Given the description of an element on the screen output the (x, y) to click on. 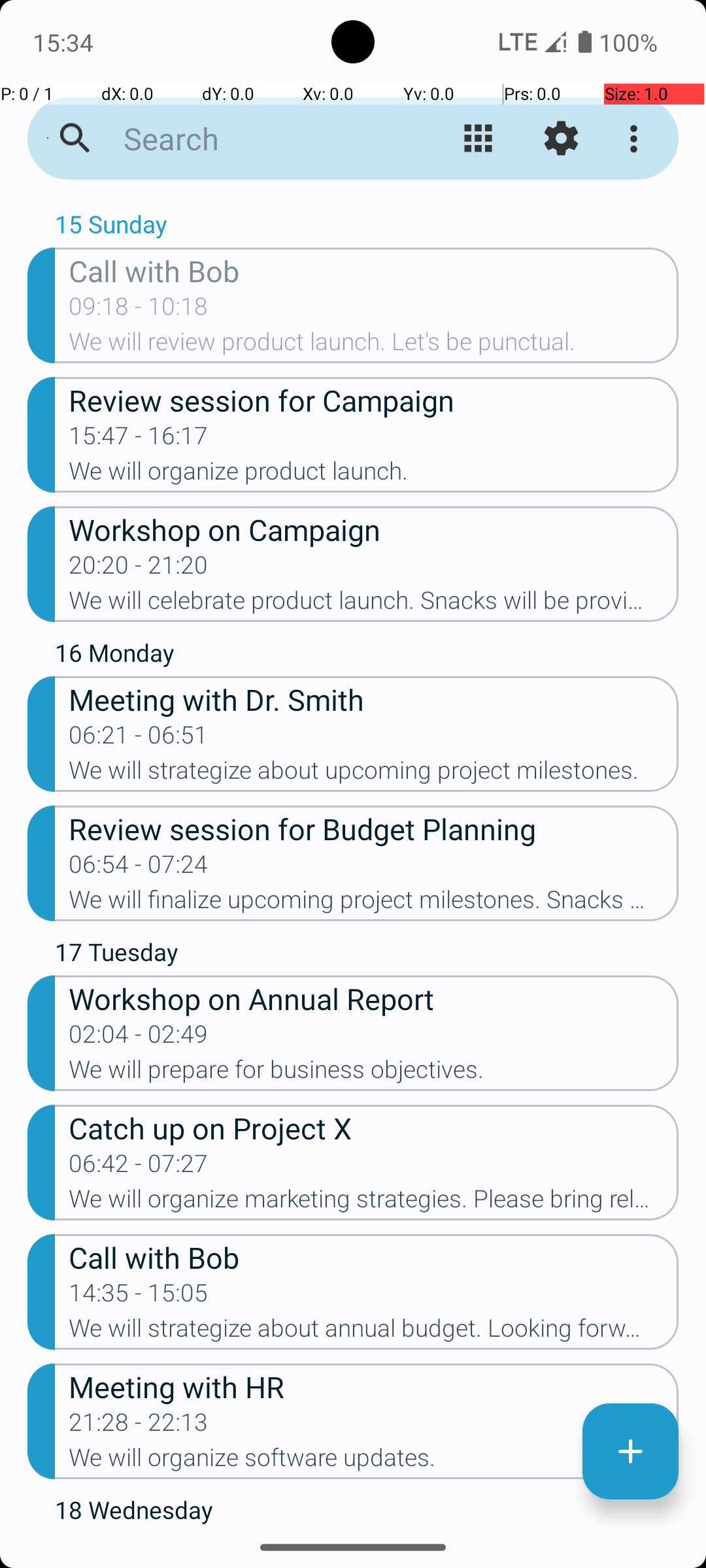
17 Tuesday Element type: android.widget.TextView (366, 954)
18 Wednesday Element type: android.widget.TextView (366, 1509)
Call with Bob Element type: android.widget.TextView (373, 269)
09:18 - 10:18 Element type: android.widget.TextView (137, 309)
We will review product launch. Let's be punctual. Element type: android.widget.TextView (373, 345)
15:47 - 16:17 Element type: android.widget.TextView (137, 439)
We will organize product launch. Element type: android.widget.TextView (373, 474)
20:20 - 21:20 Element type: android.widget.TextView (137, 568)
We will celebrate product launch. Snacks will be provided. Element type: android.widget.TextView (373, 603)
Meeting with Dr. Smith Element type: android.widget.TextView (373, 698)
06:21 - 06:51 Element type: android.widget.TextView (137, 738)
We will strategize about upcoming project milestones. Element type: android.widget.TextView (373, 773)
06:54 - 07:24 Element type: android.widget.TextView (137, 867)
We will finalize upcoming project milestones. Snacks will be provided. Element type: android.widget.TextView (373, 903)
02:04 - 02:49 Element type: android.widget.TextView (137, 1037)
We will prepare for business objectives. Element type: android.widget.TextView (373, 1073)
06:42 - 07:27 Element type: android.widget.TextView (137, 1167)
We will organize marketing strategies. Please bring relevant documents. Element type: android.widget.TextView (373, 1202)
14:35 - 15:05 Element type: android.widget.TextView (137, 1296)
We will strategize about annual budget. Looking forward to productive discussions. Element type: android.widget.TextView (373, 1331)
21:28 - 22:13 Element type: android.widget.TextView (137, 1425)
We will organize software updates. Element type: android.widget.TextView (373, 1461)
